Given the description of an element on the screen output the (x, y) to click on. 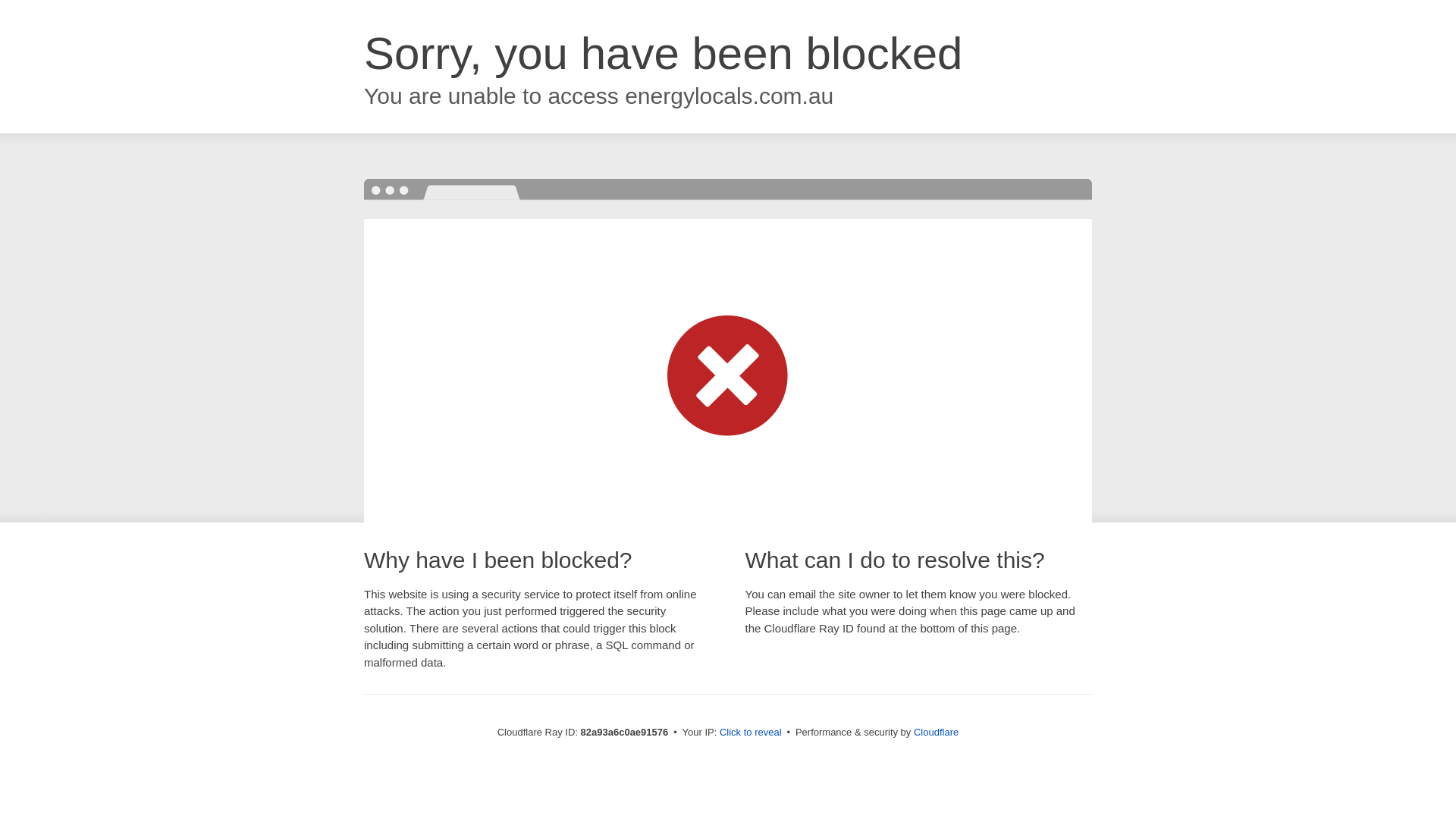
Click to reveal Element type: text (750, 732)
Cloudflare Element type: text (935, 731)
